Given the description of an element on the screen output the (x, y) to click on. 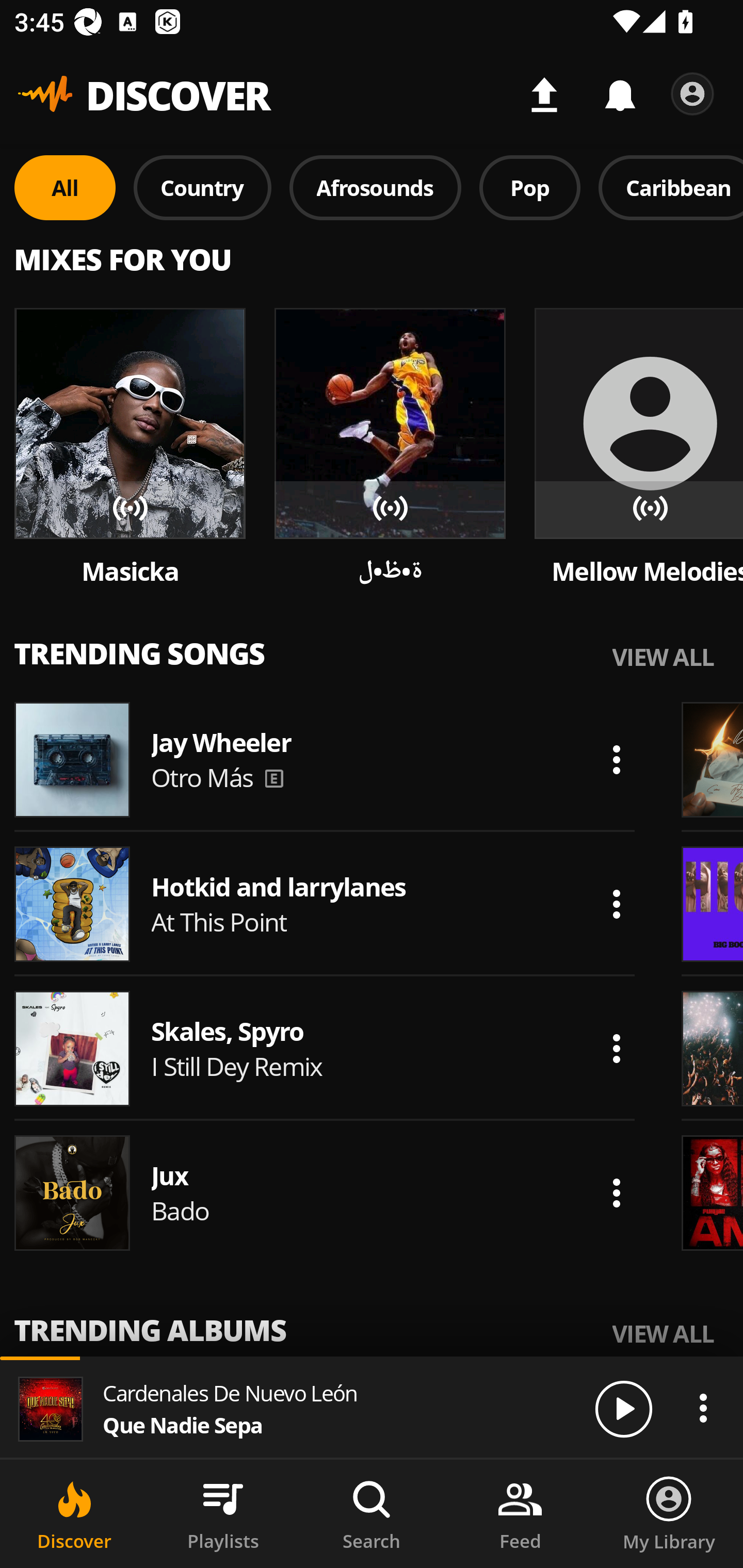
Settings (692, 94)
All (64, 187)
Country (202, 187)
Afrosounds (375, 187)
Pop (529, 187)
Caribbean (670, 187)
Song artwork Song artwork Song artwork Masicka (129, 447)
Song artwork Song artwork Song artwork ة•ظ•ل (389, 447)
VIEW ALL (663, 655)
Song artwork Jay Wheeler Otro Más    Actions (324, 759)
Actions (616, 759)
Actions (616, 903)
Actions (616, 1048)
Song artwork Jux Bado Actions (324, 1193)
Actions (616, 1193)
VIEW ALL (663, 1333)
Actions (703, 1407)
Play/Pause (623, 1408)
Discover (74, 1513)
Playlists (222, 1513)
Search (371, 1513)
Feed (519, 1513)
My Library (668, 1513)
